Given the description of an element on the screen output the (x, y) to click on. 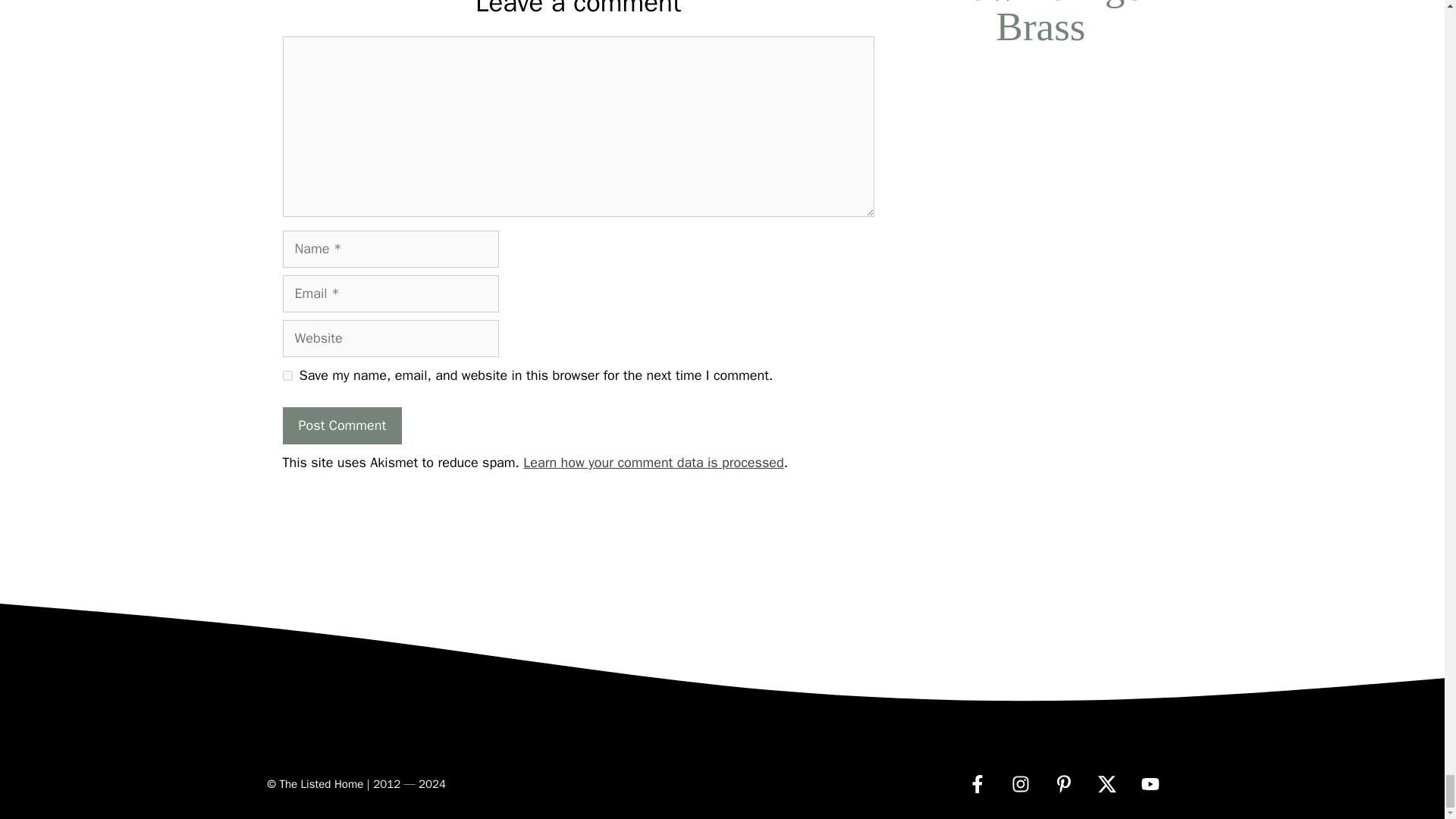
Post Comment (341, 425)
yes (287, 375)
